Given the description of an element on the screen output the (x, y) to click on. 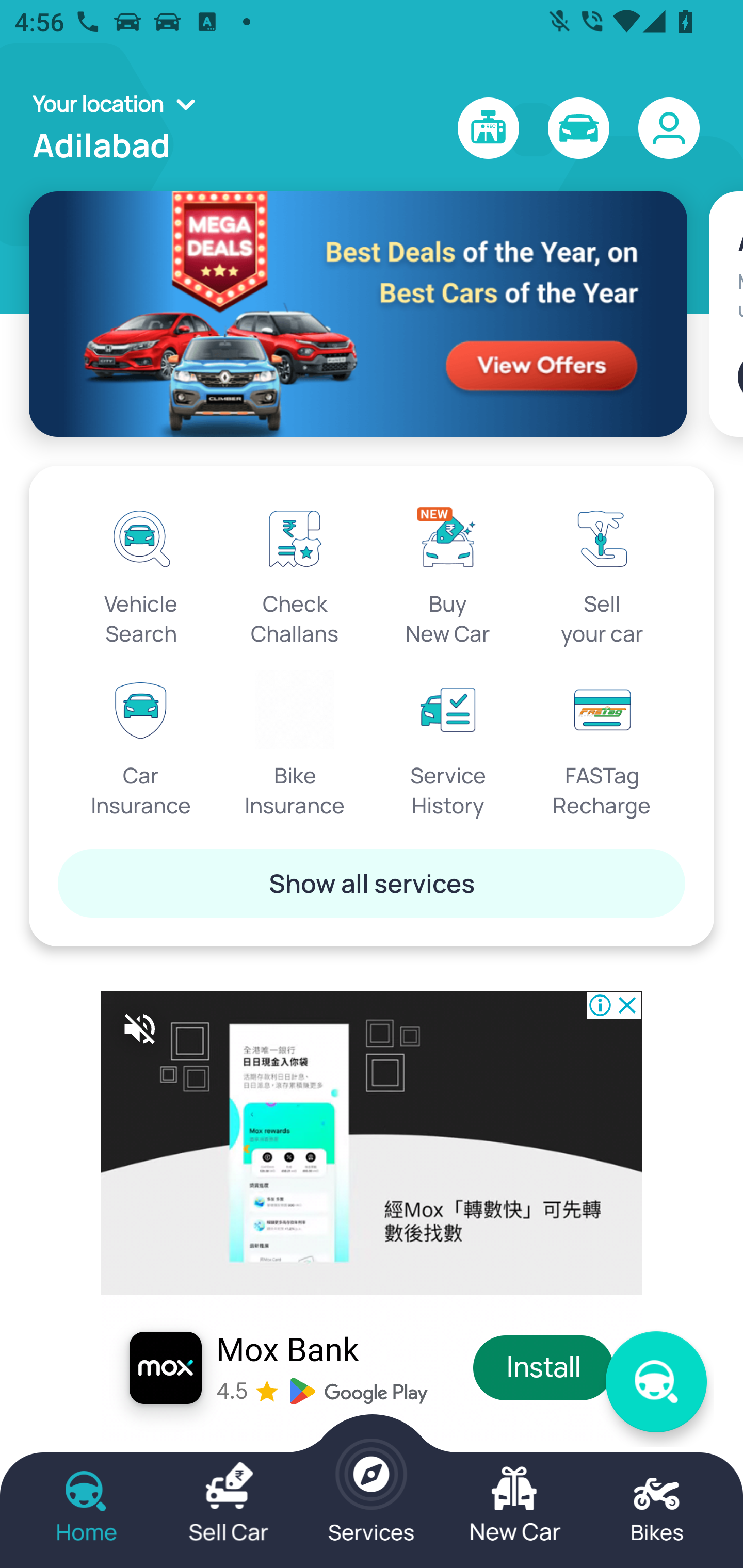
Your location Adilabad (119, 128)
Add vehicle (740, 376)
Vehicle
Search (141, 572)
Check
Challans (294, 572)
Buy
New Car (447, 572)
Sell
your car (601, 572)
Car
Insurance (141, 744)
Bike
Insurance (294, 744)
Service
History (447, 744)
FASTag Recharge (601, 744)
Show all services (371, 882)
Install (543, 1367)
